Given the description of an element on the screen output the (x, y) to click on. 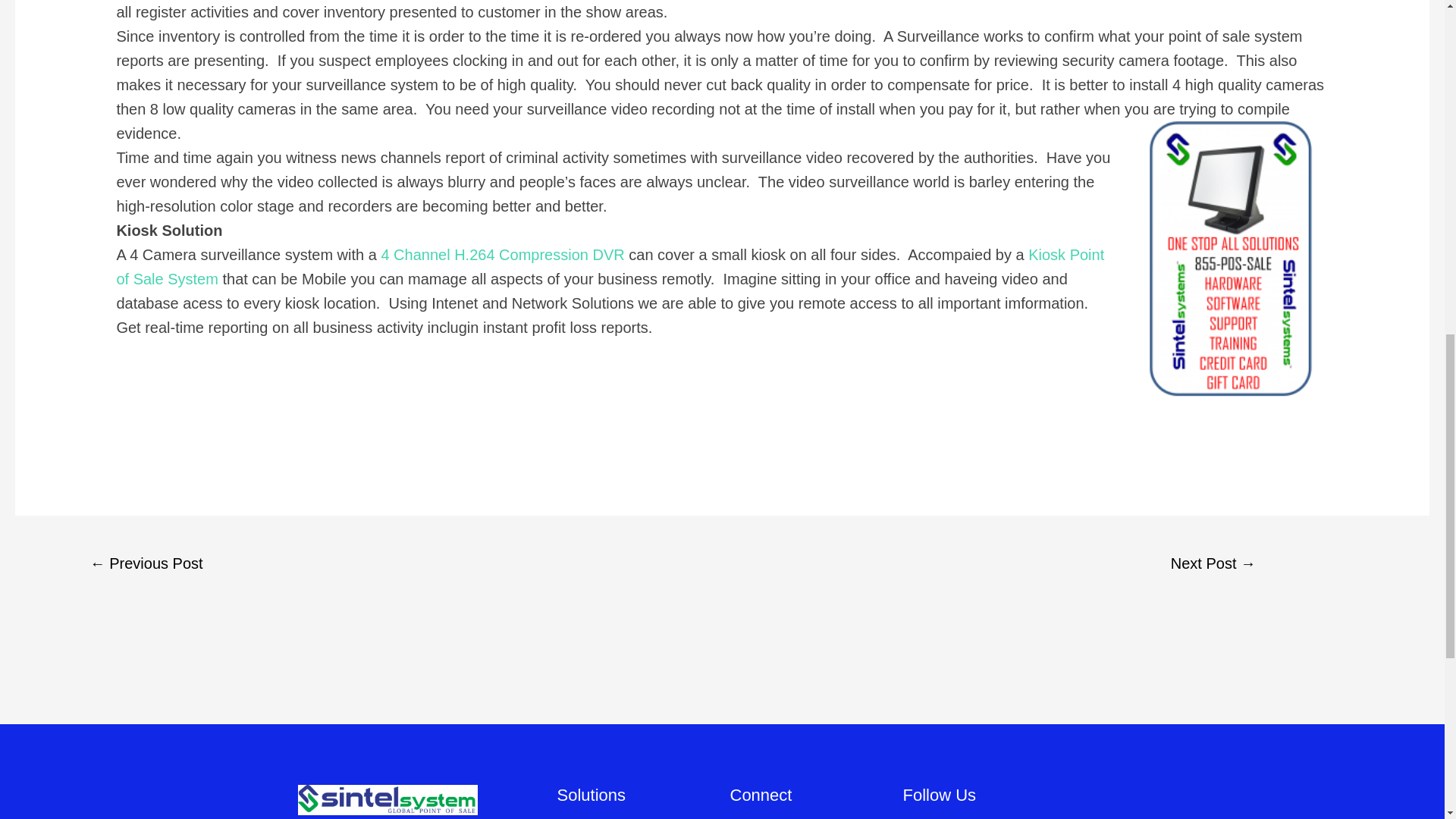
Security Camera Stores in Los Angeles (145, 565)
This link takes you to the 4CH DVR Page of SintelSystems.com (502, 254)
Kiosk Point of Sale (609, 266)
